Given the description of an element on the screen output the (x, y) to click on. 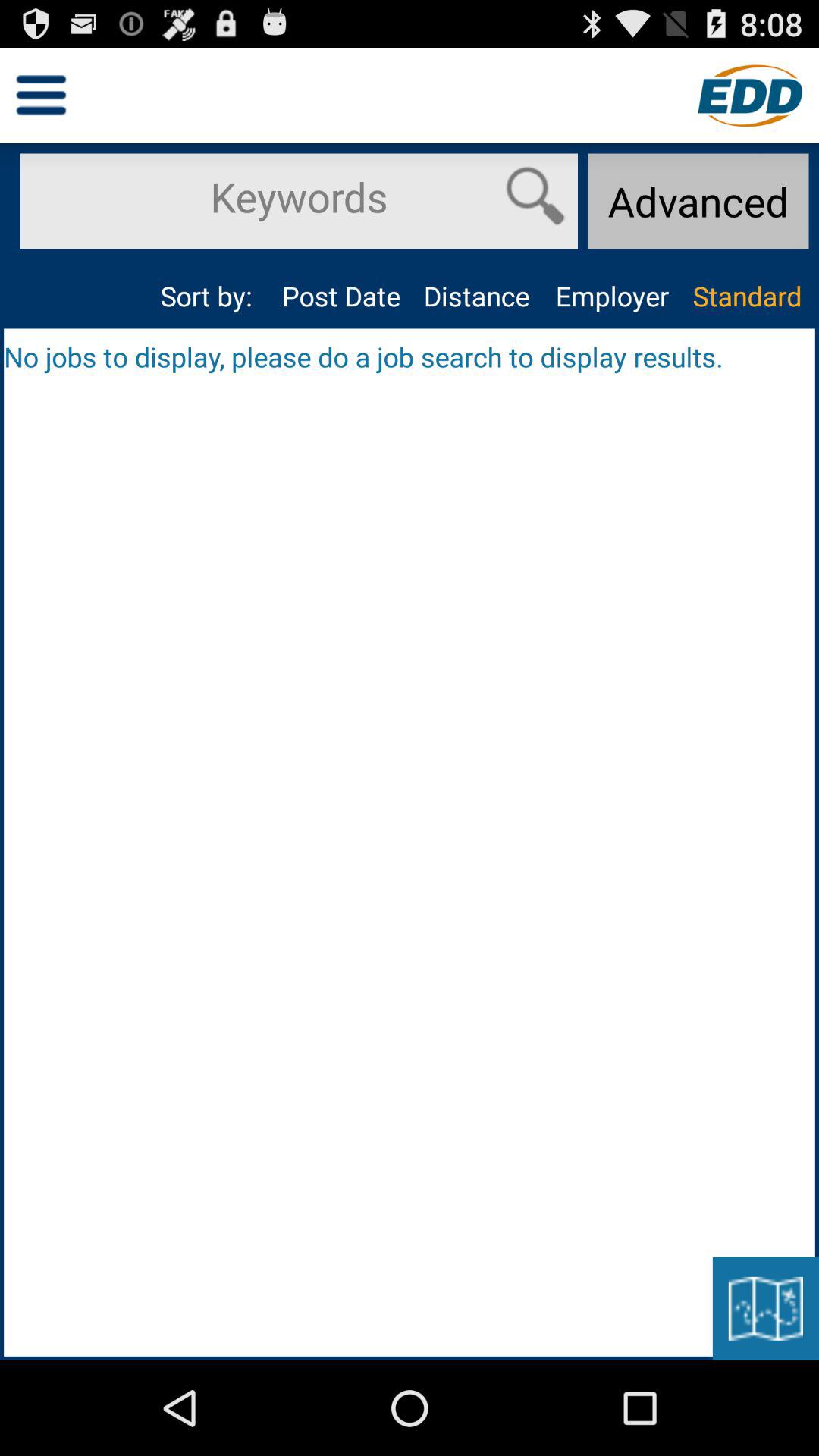
select the item next to employer item (476, 295)
